Given the description of an element on the screen output the (x, y) to click on. 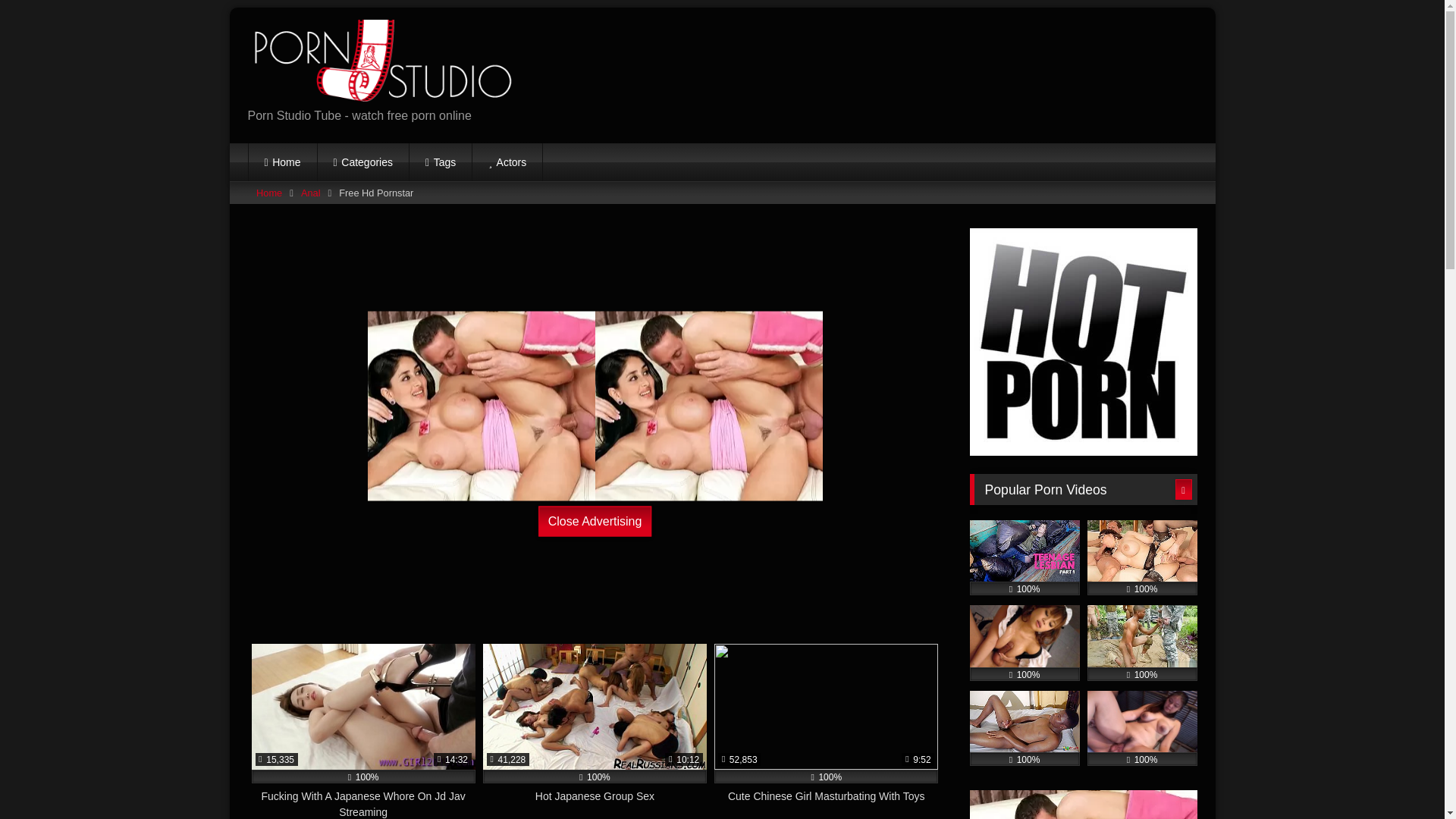
Home (269, 192)
Close Advertising (595, 521)
Categories of Studio Porn (363, 161)
PornStudio.net (379, 63)
Anal (310, 192)
Tags (440, 161)
Porn Studio Actors (506, 161)
Porn Studio Tube (282, 161)
Home (282, 161)
XXX Tags Porn (440, 161)
Categories (363, 161)
Actors (506, 161)
